Given the description of an element on the screen output the (x, y) to click on. 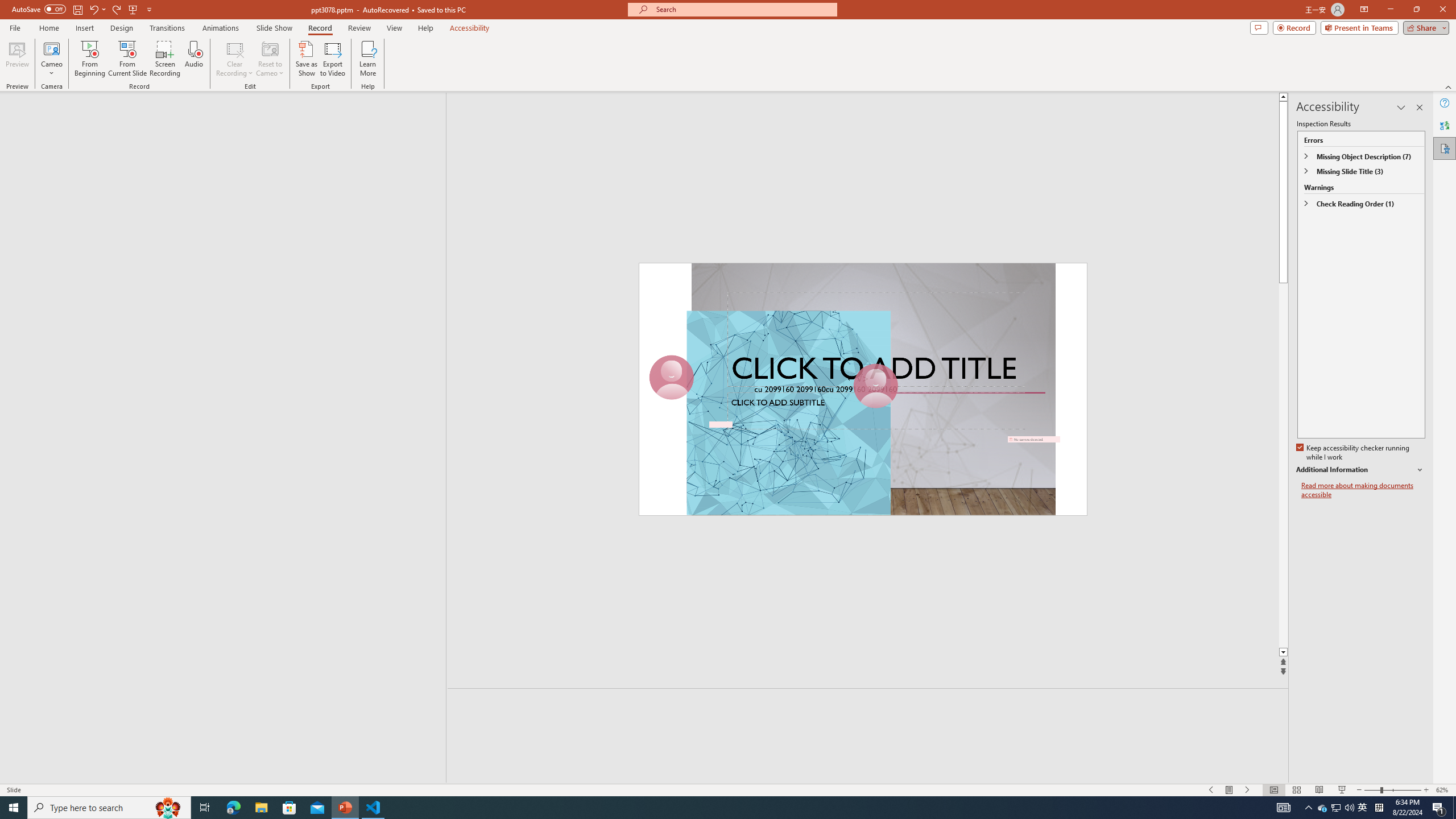
Slide Show Previous On (1211, 790)
Menu On (1229, 790)
